Given the description of an element on the screen output the (x, y) to click on. 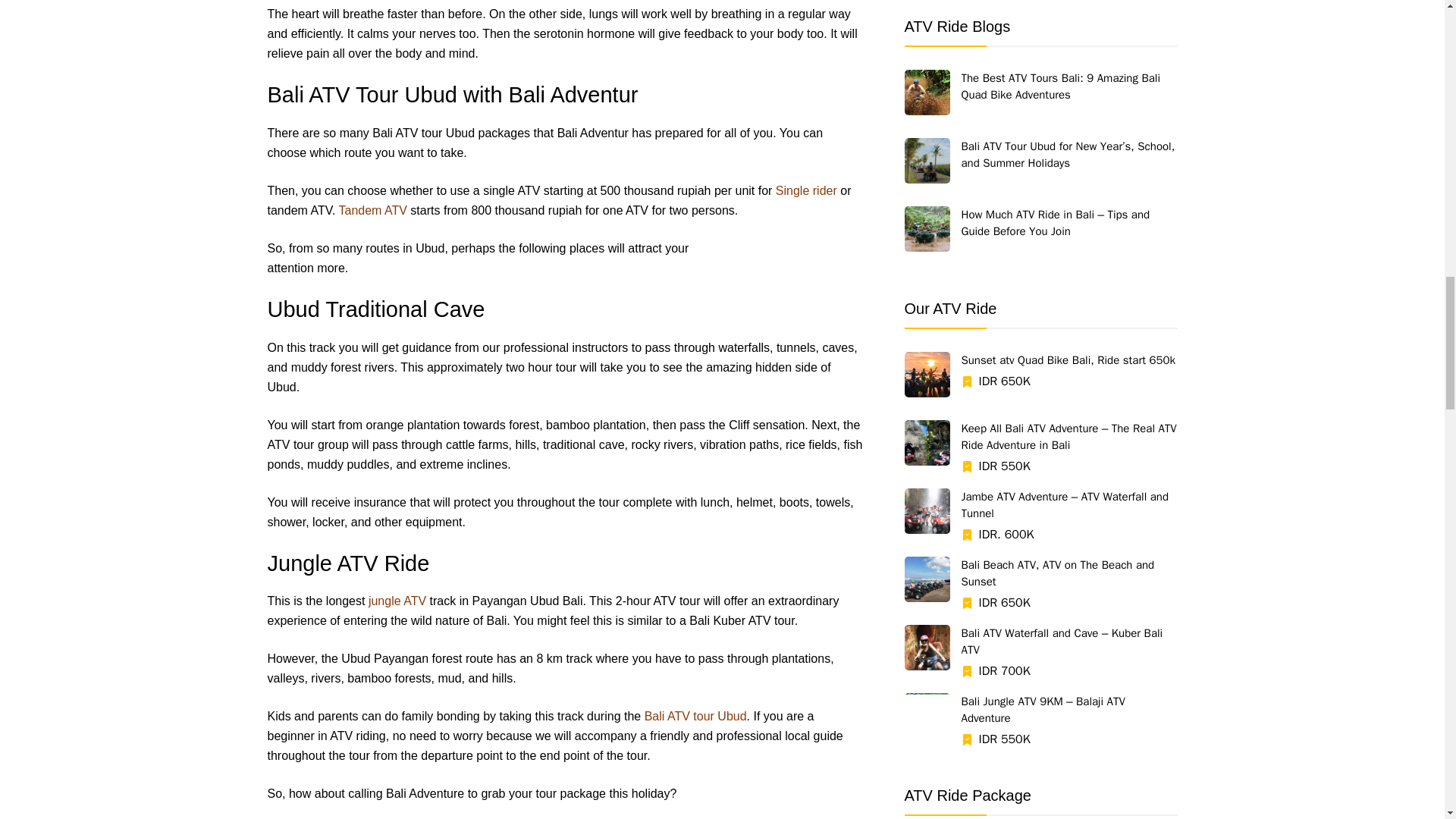
Single rider (806, 190)
Tandem ATV (371, 210)
Bali ATV tour Ubud (695, 716)
jungle ATV (397, 600)
